Given the description of an element on the screen output the (x, y) to click on. 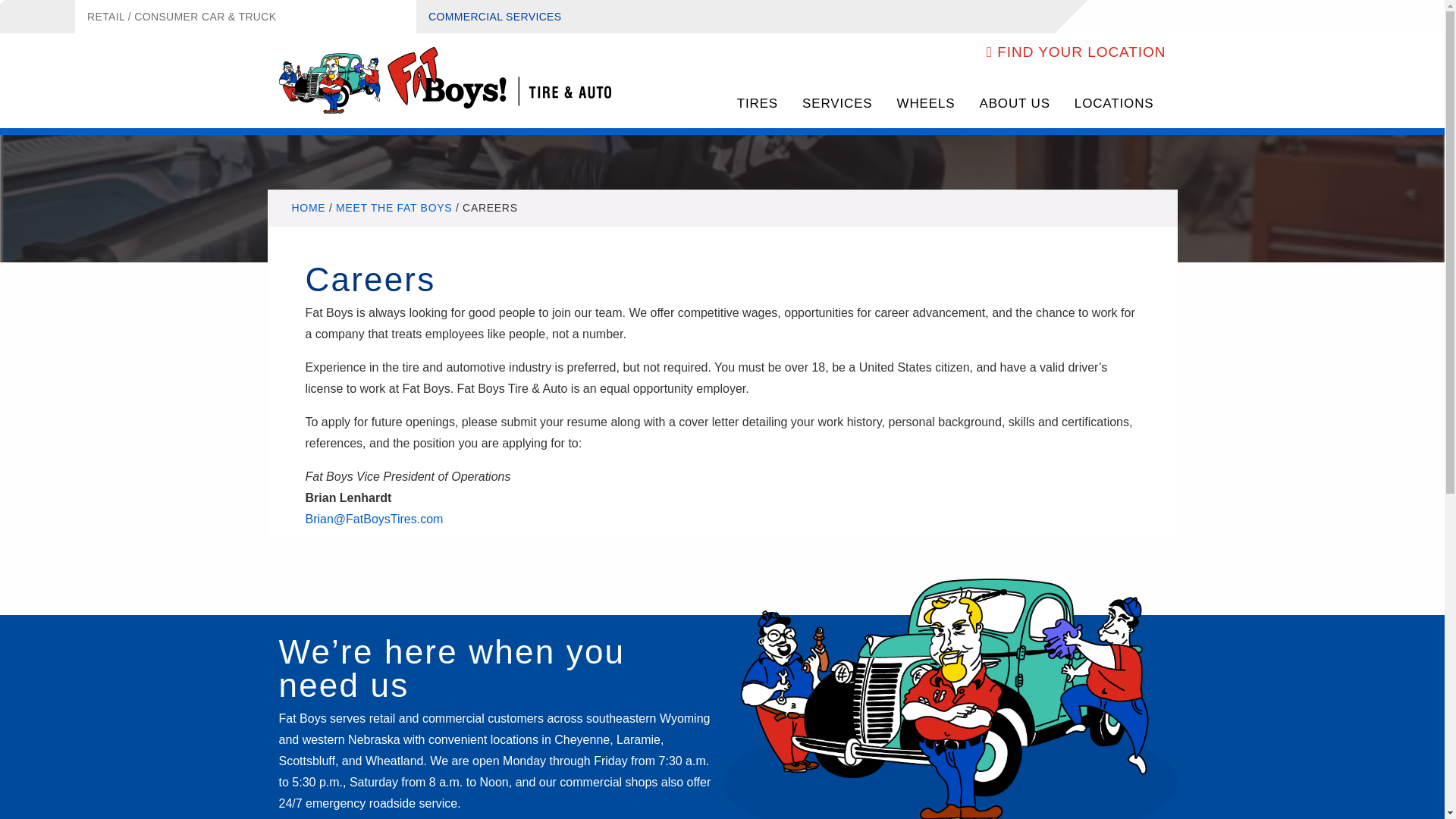
Shop for Tires Online! (757, 104)
SERVICES (836, 104)
ABOUT US (1013, 104)
COMMERCIAL SERVICES (494, 16)
WHEELS (926, 104)
LOCATIONS (1114, 104)
TIRES (757, 104)
FIND YOUR LOCATION (1076, 51)
Commercial Services (494, 16)
